Given the description of an element on the screen output the (x, y) to click on. 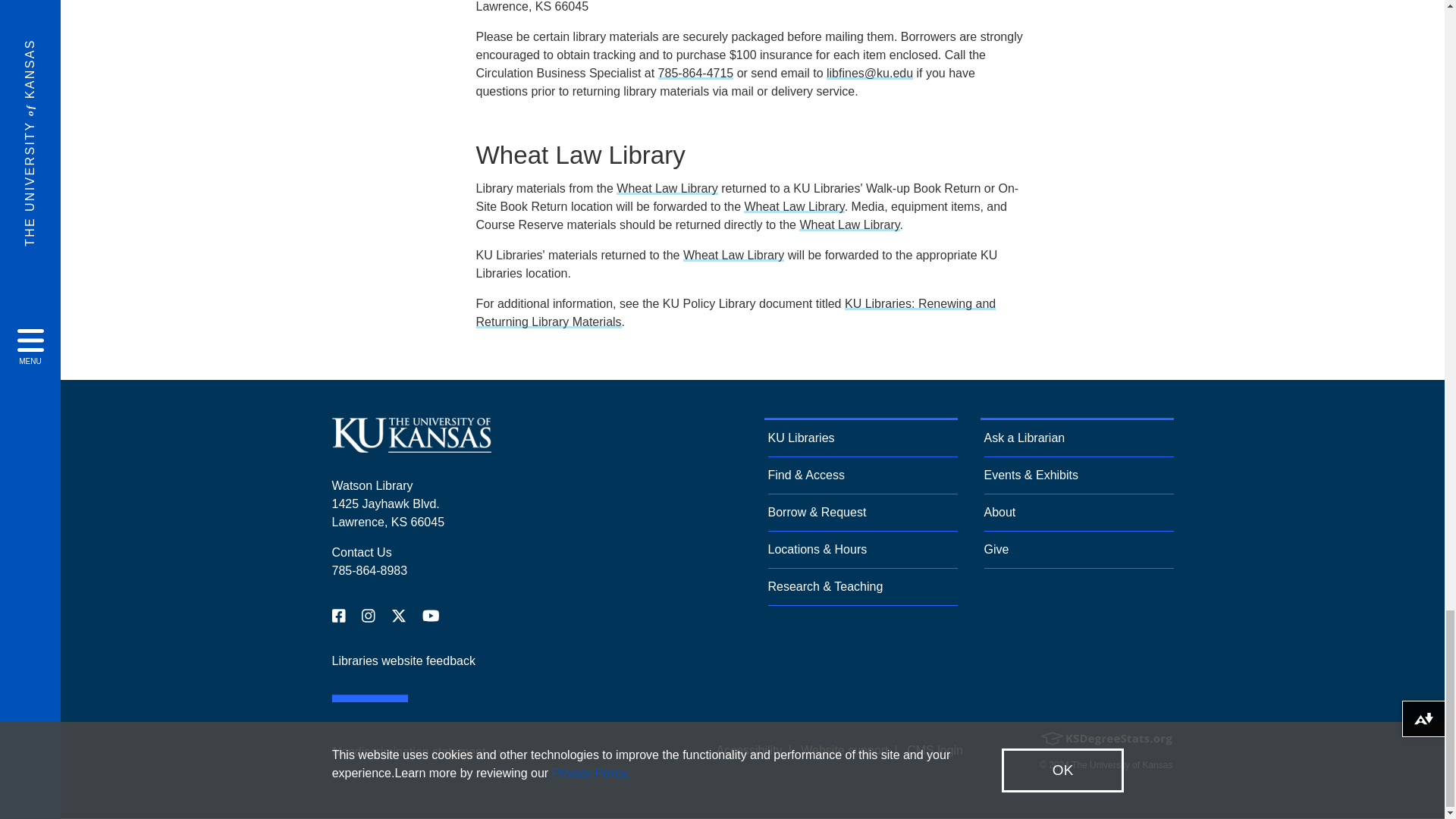
The University of Kansas (411, 445)
